Given the description of an element on the screen output the (x, y) to click on. 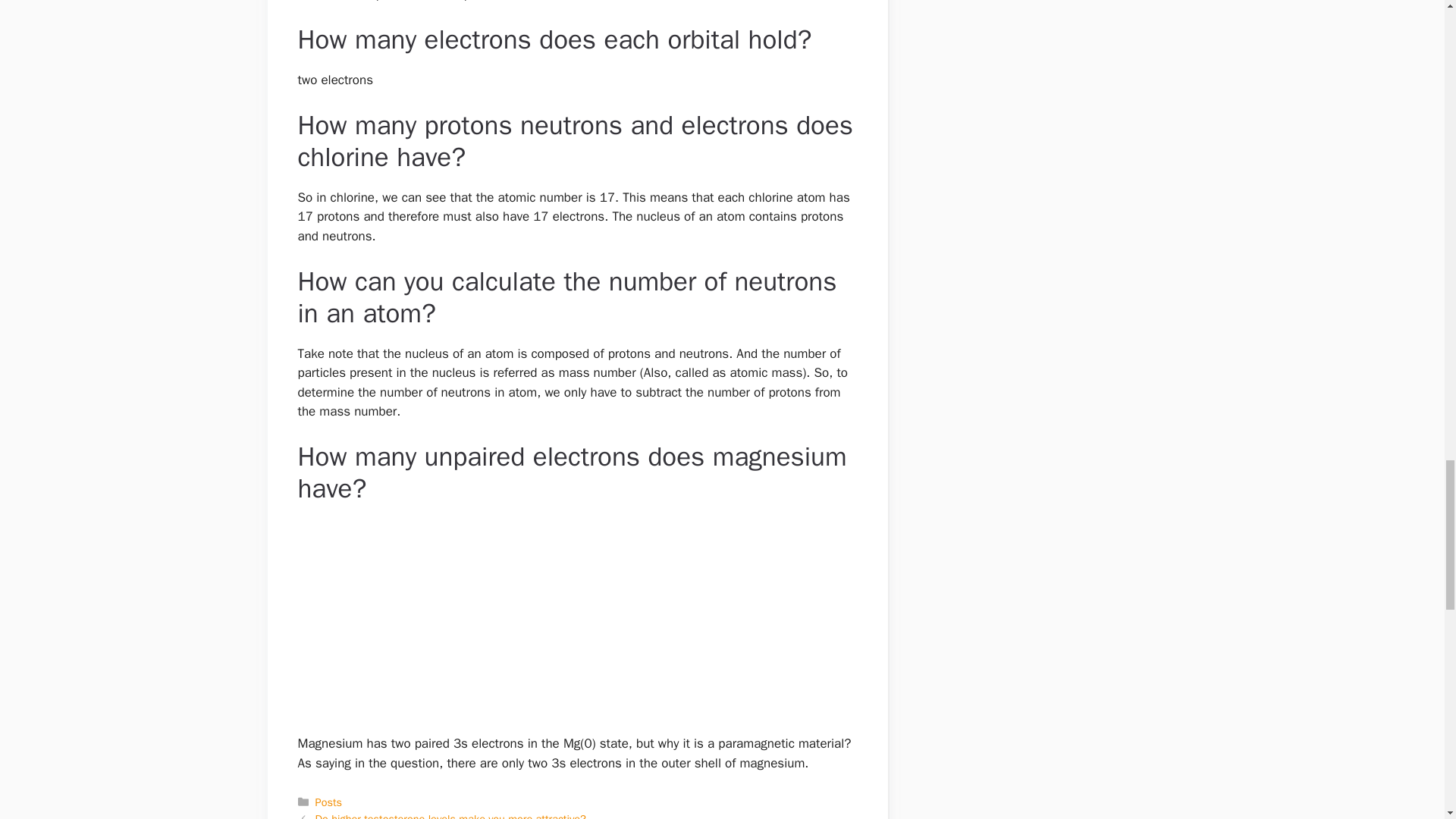
Advertisement (569, 625)
Do higher testosterone levels make you more attractive? (450, 815)
Posts (328, 802)
